Given the description of an element on the screen output the (x, y) to click on. 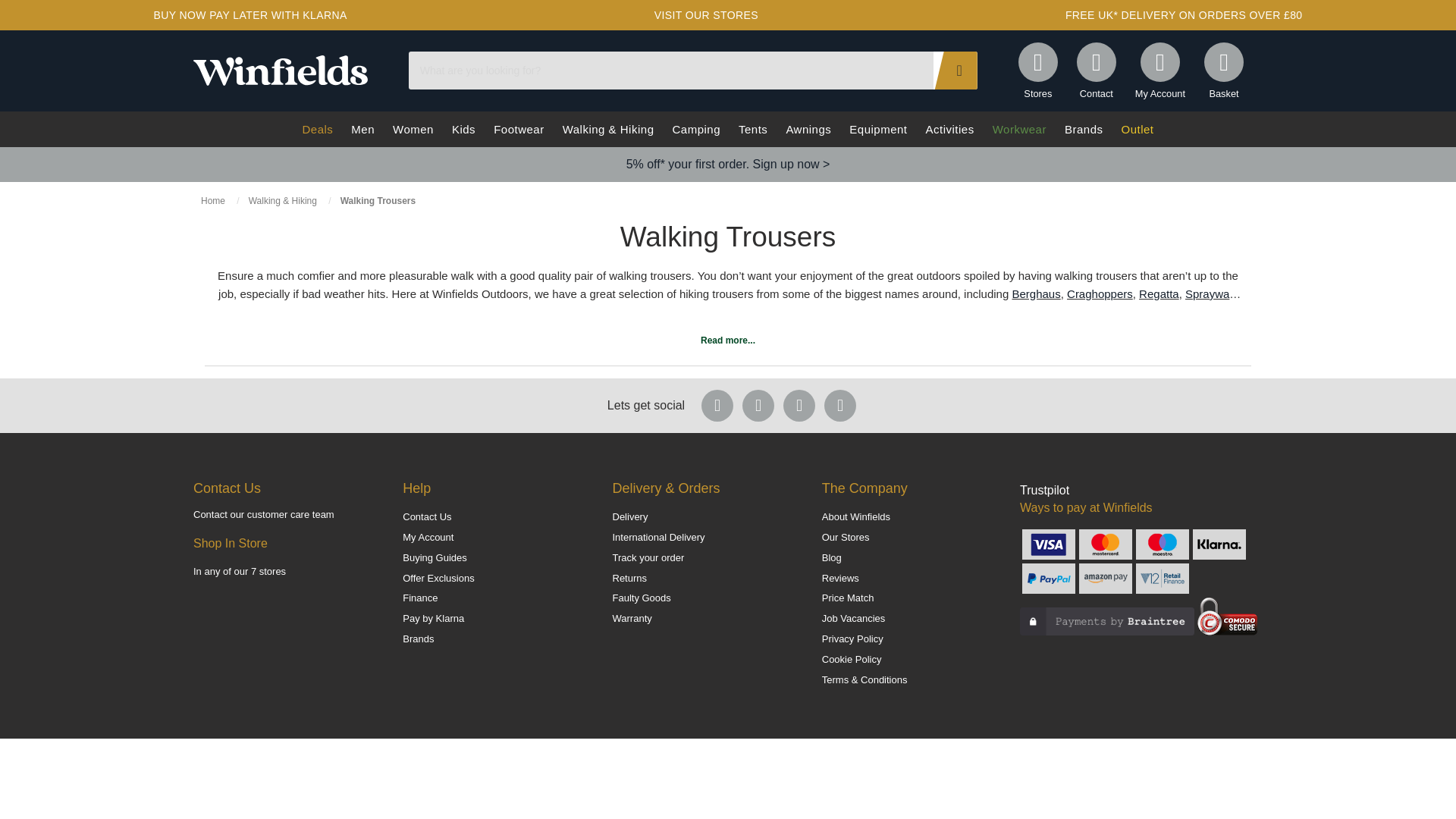
BUY NOW PAY LATER WITH KLARNA (249, 15)
Men (363, 129)
Deals (317, 129)
Go to Home Page (213, 200)
Winfields Outdoors (280, 70)
Search (954, 70)
VISIT OUR STORES (706, 15)
Search (954, 70)
